Given the description of an element on the screen output the (x, y) to click on. 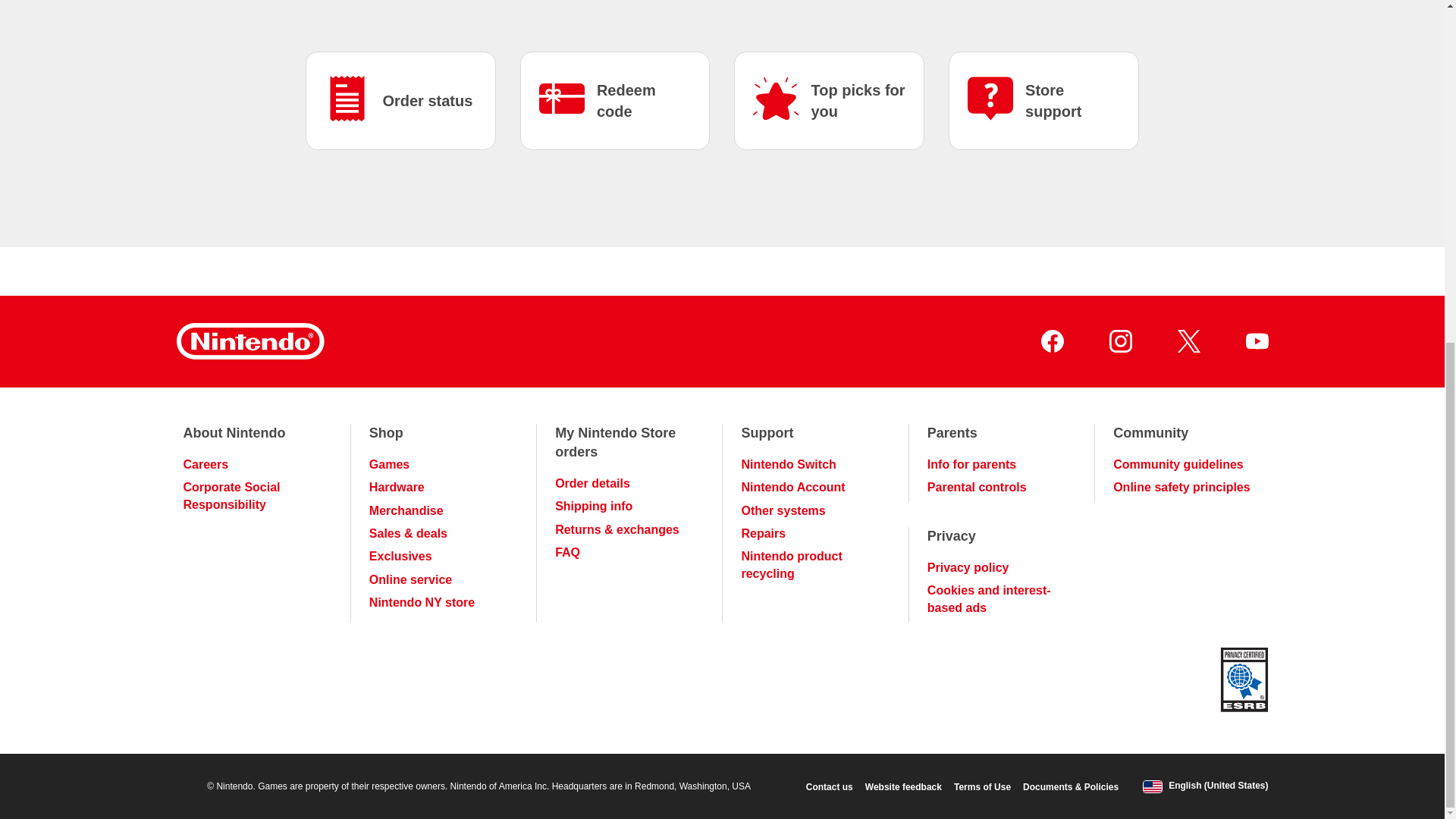
Nintendo Homepage (249, 340)
Nintendo on Twitter (1187, 341)
Nintendo on Instagram (1119, 341)
Nintendo on Facebook (1051, 341)
Nintendo on YouTube (1256, 341)
